Given the description of an element on the screen output the (x, y) to click on. 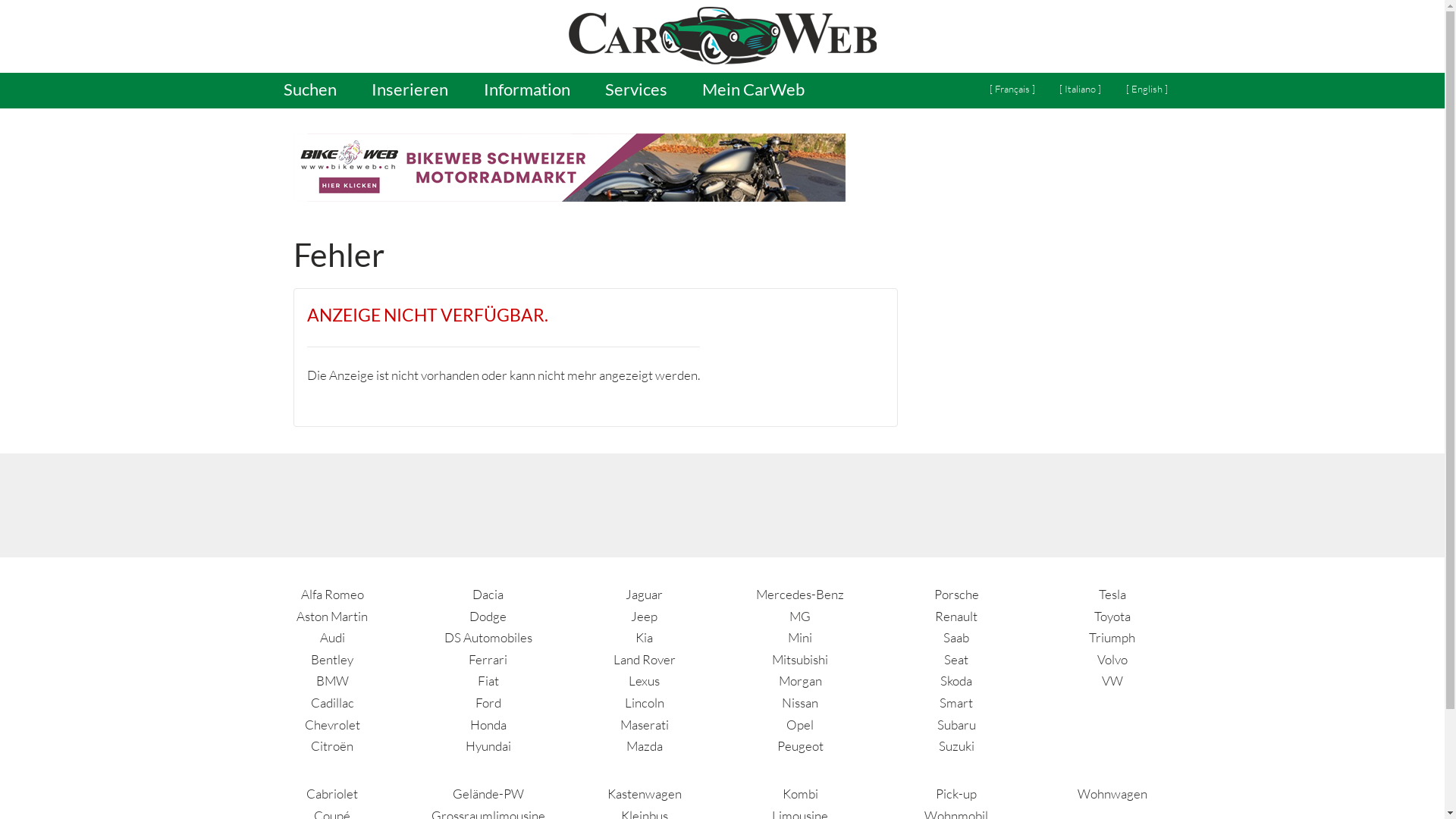
Hyundai Element type: text (488, 745)
Mini Element type: text (799, 637)
Lexus Element type: text (643, 680)
Dodge Element type: text (487, 616)
Seat Element type: text (956, 659)
Dacia Element type: text (487, 594)
BMW Element type: text (332, 680)
Triumph Element type: text (1111, 637)
Chevrolet Element type: text (332, 724)
Inserieren Element type: text (409, 90)
Skoda Element type: text (956, 680)
Tesla Element type: text (1112, 594)
Suchen Element type: text (309, 90)
DS Automobiles Element type: text (488, 637)
Cabriolet Element type: text (331, 793)
[ English ] Element type: text (1146, 89)
Bentley Element type: text (331, 659)
MG Element type: text (799, 616)
Subaru Element type: text (956, 724)
Peugeot Element type: text (800, 745)
Honda Element type: text (488, 724)
Aston Martin Element type: text (331, 616)
Audi Element type: text (332, 637)
Lincoln Element type: text (644, 702)
Volvo Element type: text (1112, 659)
Wohnwagen Element type: text (1112, 793)
Alfa Romeo Element type: text (332, 594)
Mazda Element type: text (644, 745)
Kombi Element type: text (800, 793)
Ferrari Element type: text (487, 659)
Saab Element type: text (956, 637)
Pick-up Element type: text (955, 793)
Mitsubishi Element type: text (799, 659)
Maserati Element type: text (644, 724)
VW Element type: text (1112, 680)
Opel Element type: text (799, 724)
Mein CarWeb Element type: text (753, 90)
[ Italiano ] Element type: text (1079, 89)
Nissan Element type: text (799, 702)
Information Element type: text (526, 90)
Mercedes-Benz Element type: text (800, 594)
Cadillac Element type: text (332, 702)
Toyota Element type: text (1112, 616)
Porsche Element type: text (956, 594)
Services Element type: text (635, 90)
Suzuki Element type: text (956, 745)
Fiat Element type: text (487, 680)
Smart Element type: text (955, 702)
Land Rover Element type: text (644, 659)
Morgan Element type: text (800, 680)
Renault Element type: text (956, 616)
Kastenwagen Element type: text (644, 793)
Jaguar Element type: text (643, 594)
Jeep Element type: text (643, 616)
Ford Element type: text (488, 702)
Kia Element type: text (643, 637)
